Given the description of an element on the screen output the (x, y) to click on. 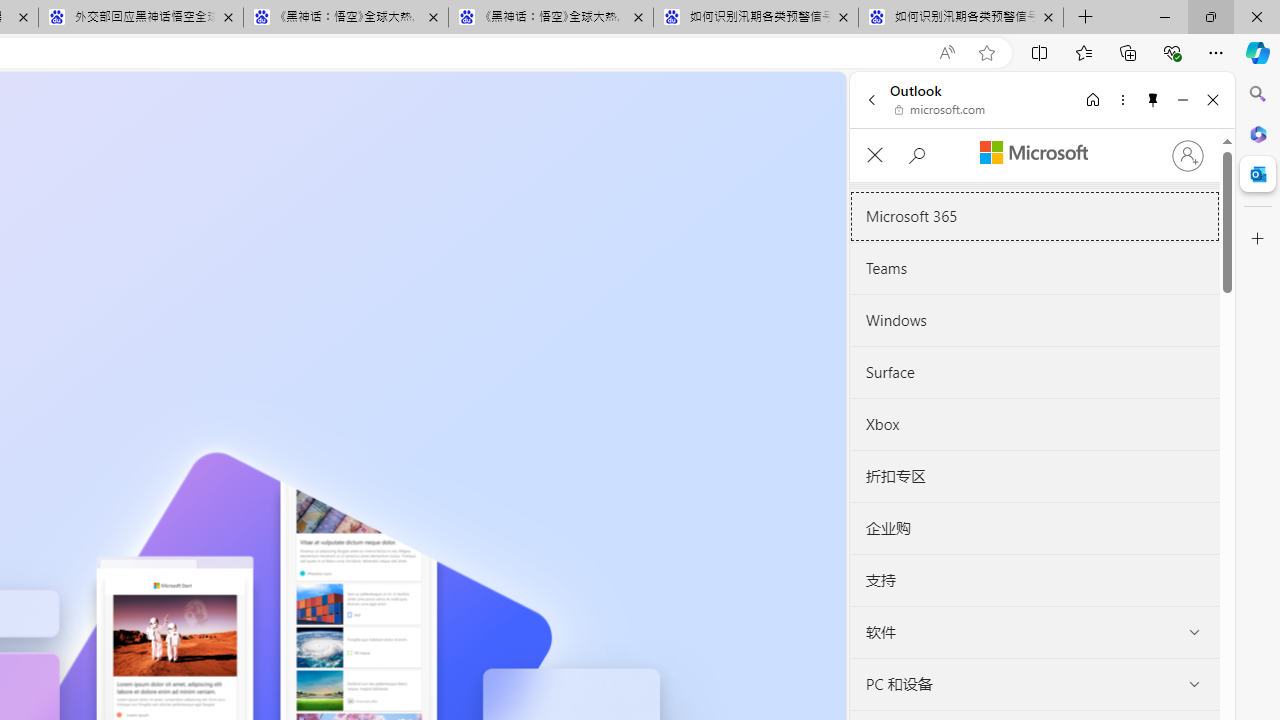
Surface (1034, 371)
Teams (1034, 269)
